Given the description of an element on the screen output the (x, y) to click on. 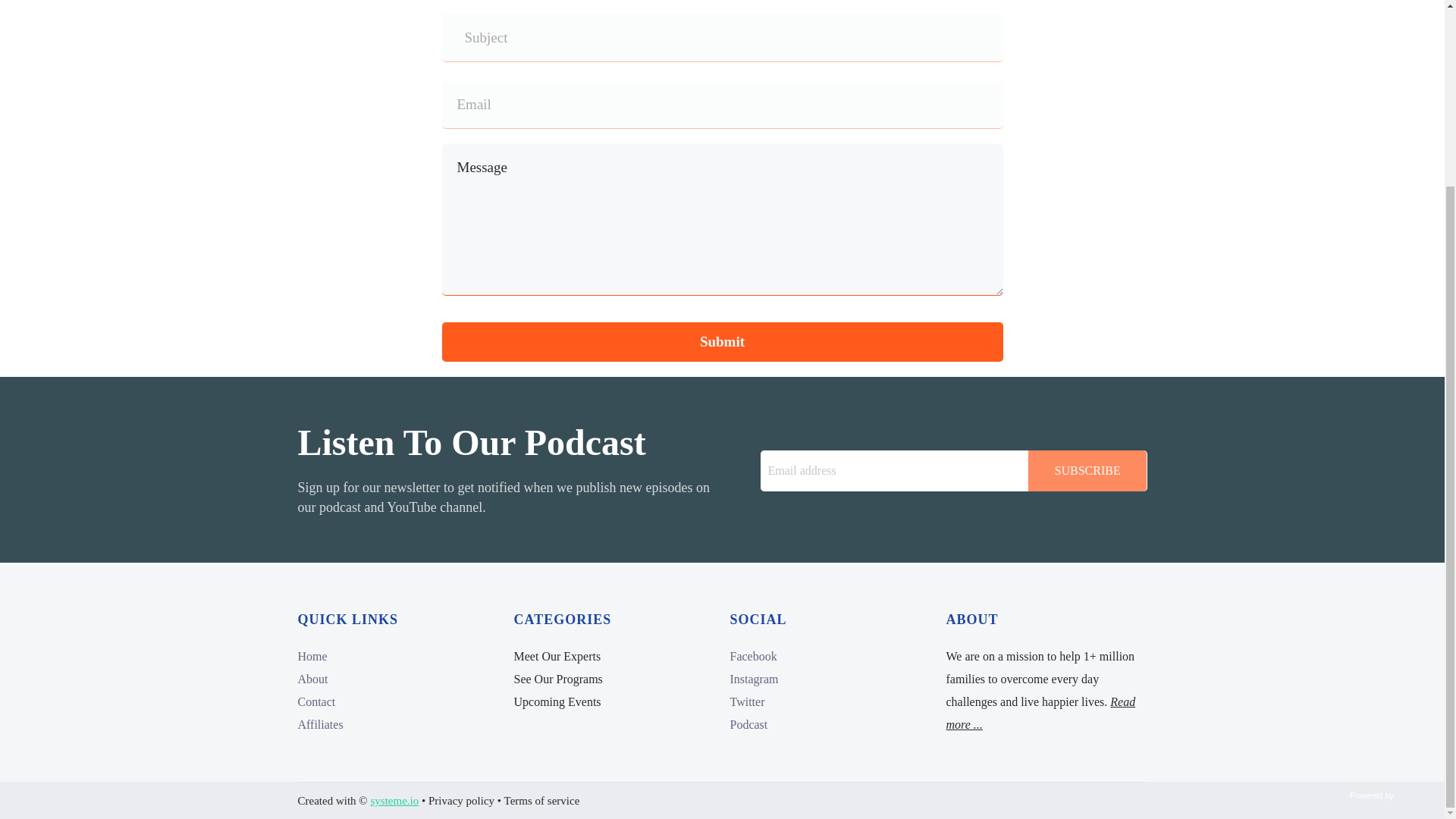
Podcast (748, 724)
systeme.io (394, 800)
Contact (315, 701)
SUBSCRIBE (1087, 470)
See Our Programs (557, 678)
Terms of service (541, 800)
Read more ... (1040, 713)
Home (311, 656)
Facebook (752, 656)
Upcoming Events (557, 701)
